Given the description of an element on the screen output the (x, y) to click on. 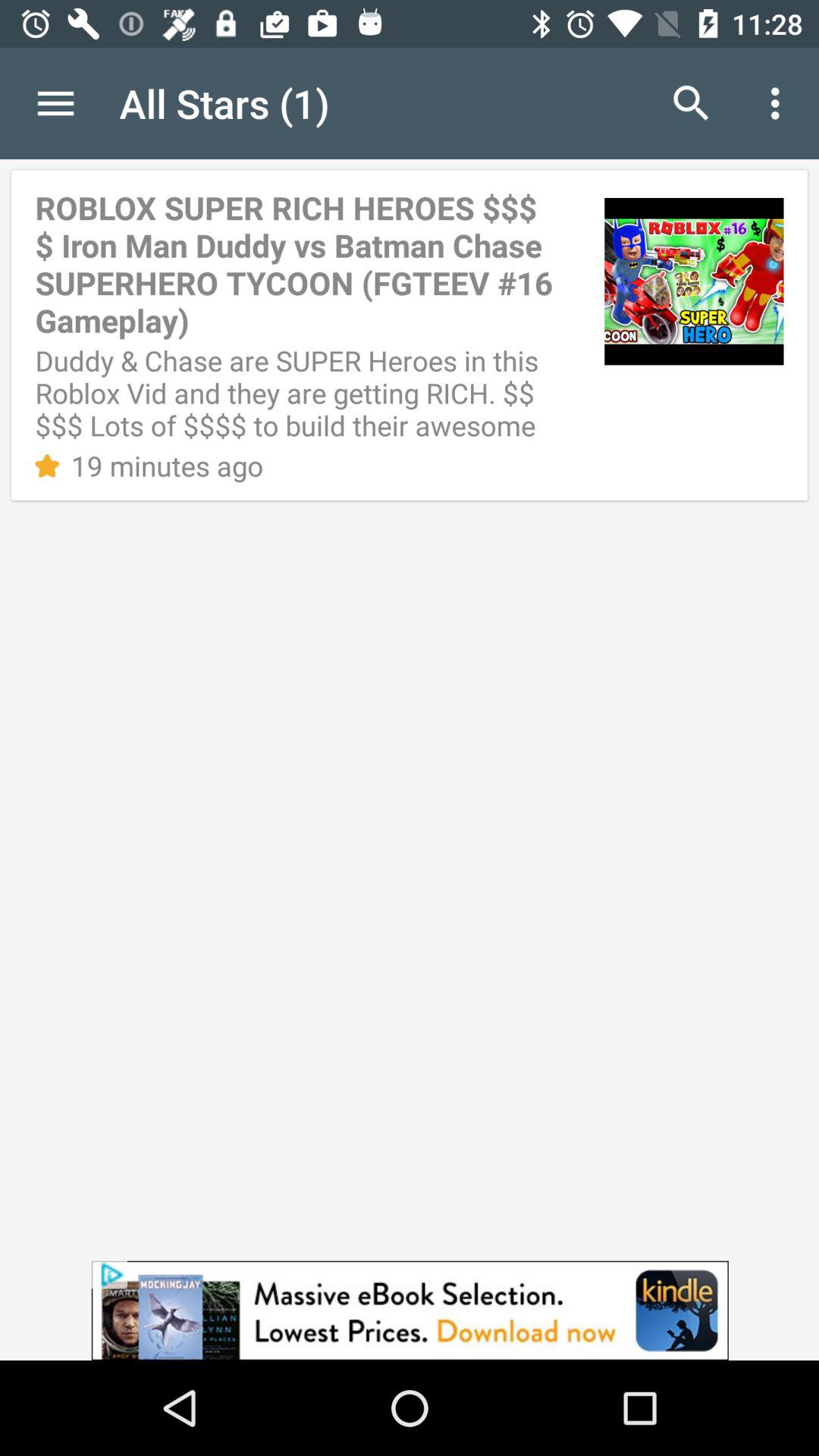
go to the advertisement page (409, 1310)
